Given the description of an element on the screen output the (x, y) to click on. 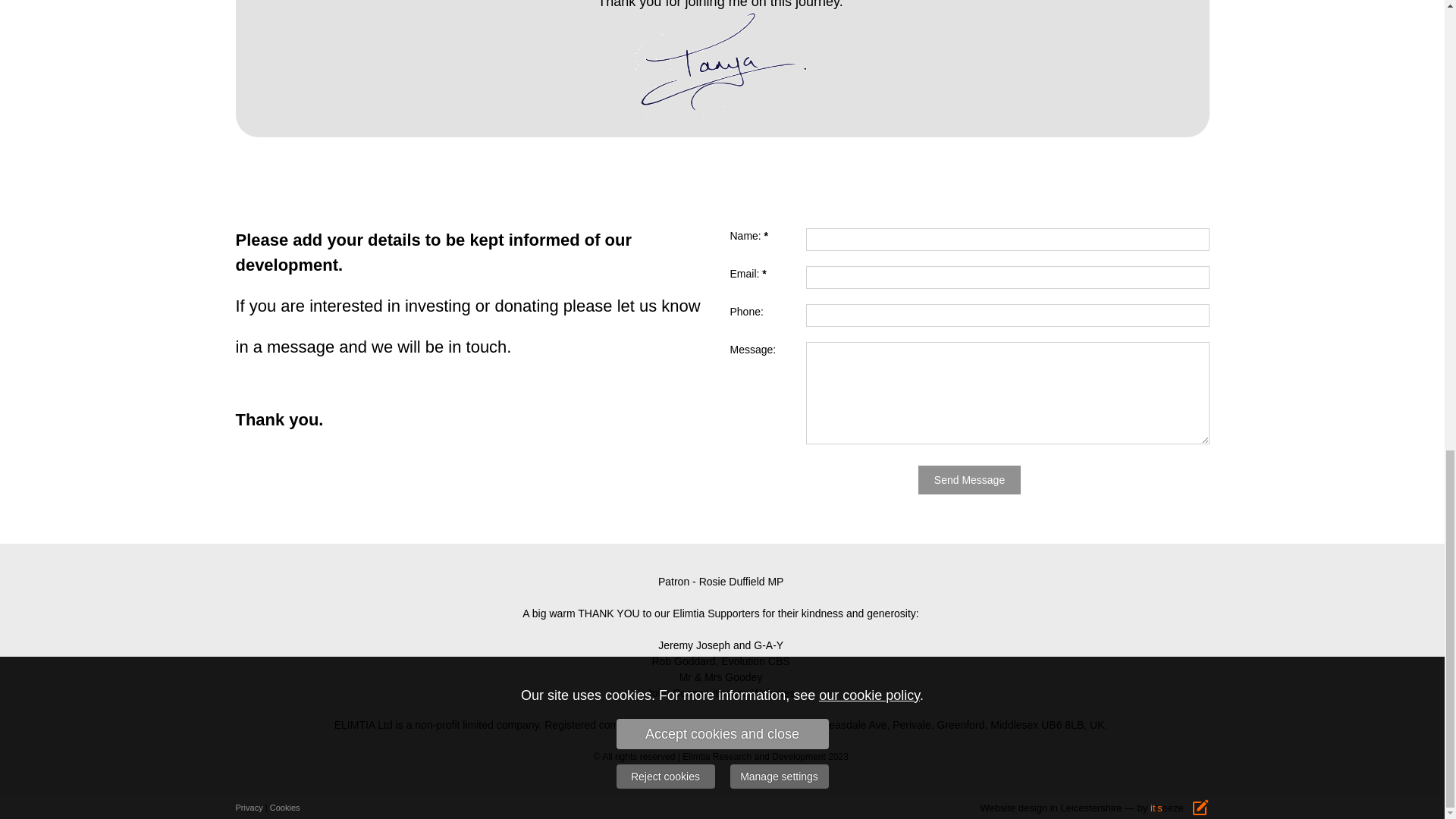
Send Message (969, 480)
Cookies (284, 806)
Privacy (248, 806)
Website design in Leicestershire (1050, 808)
